Given the description of an element on the screen output the (x, y) to click on. 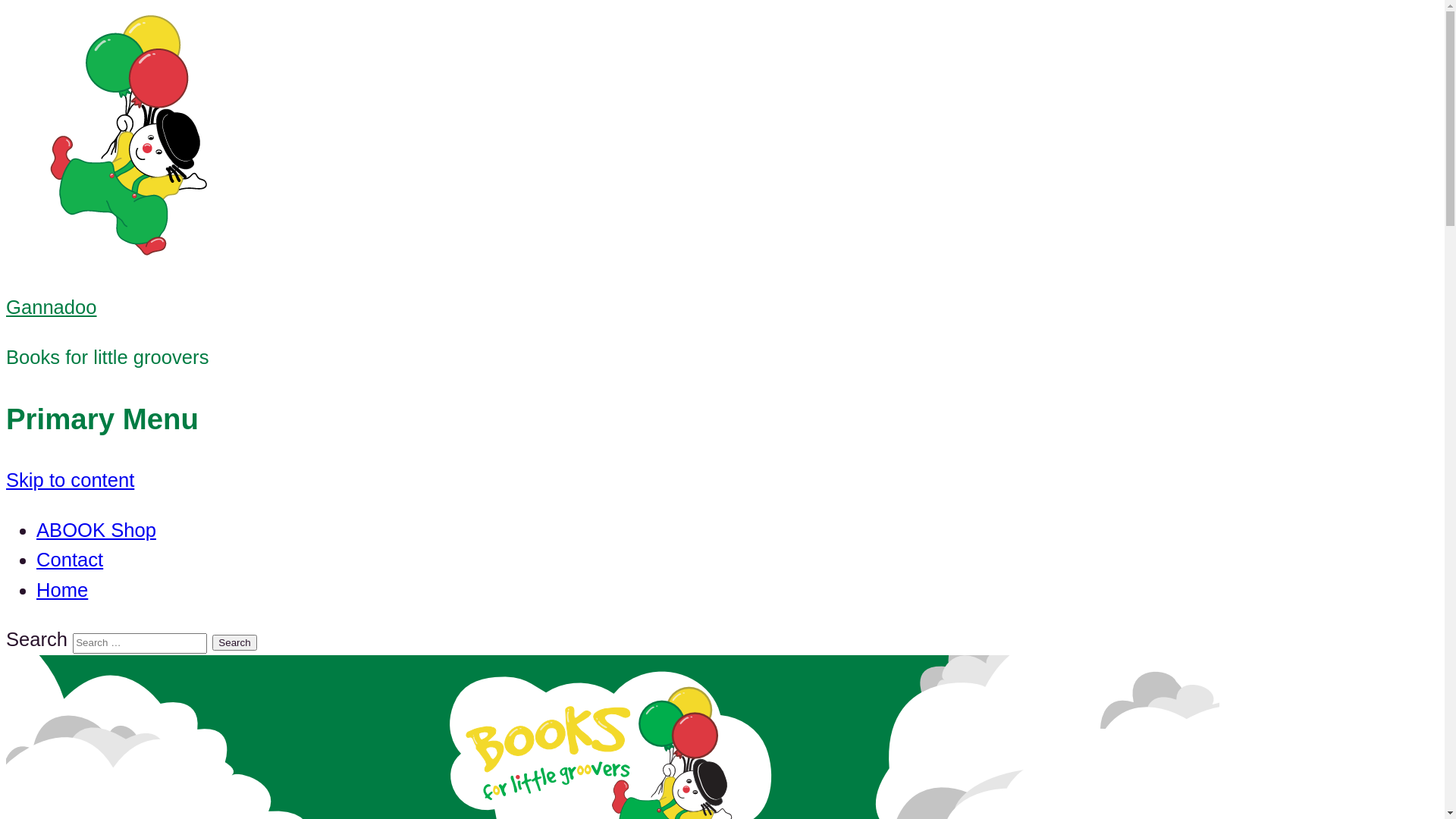
Search Element type: text (234, 642)
Home Element type: text (61, 589)
Skip to content Element type: text (70, 479)
Gannadoo Element type: text (51, 306)
ABOOK Shop Element type: text (96, 529)
Contact Element type: text (69, 559)
